Given the description of an element on the screen output the (x, y) to click on. 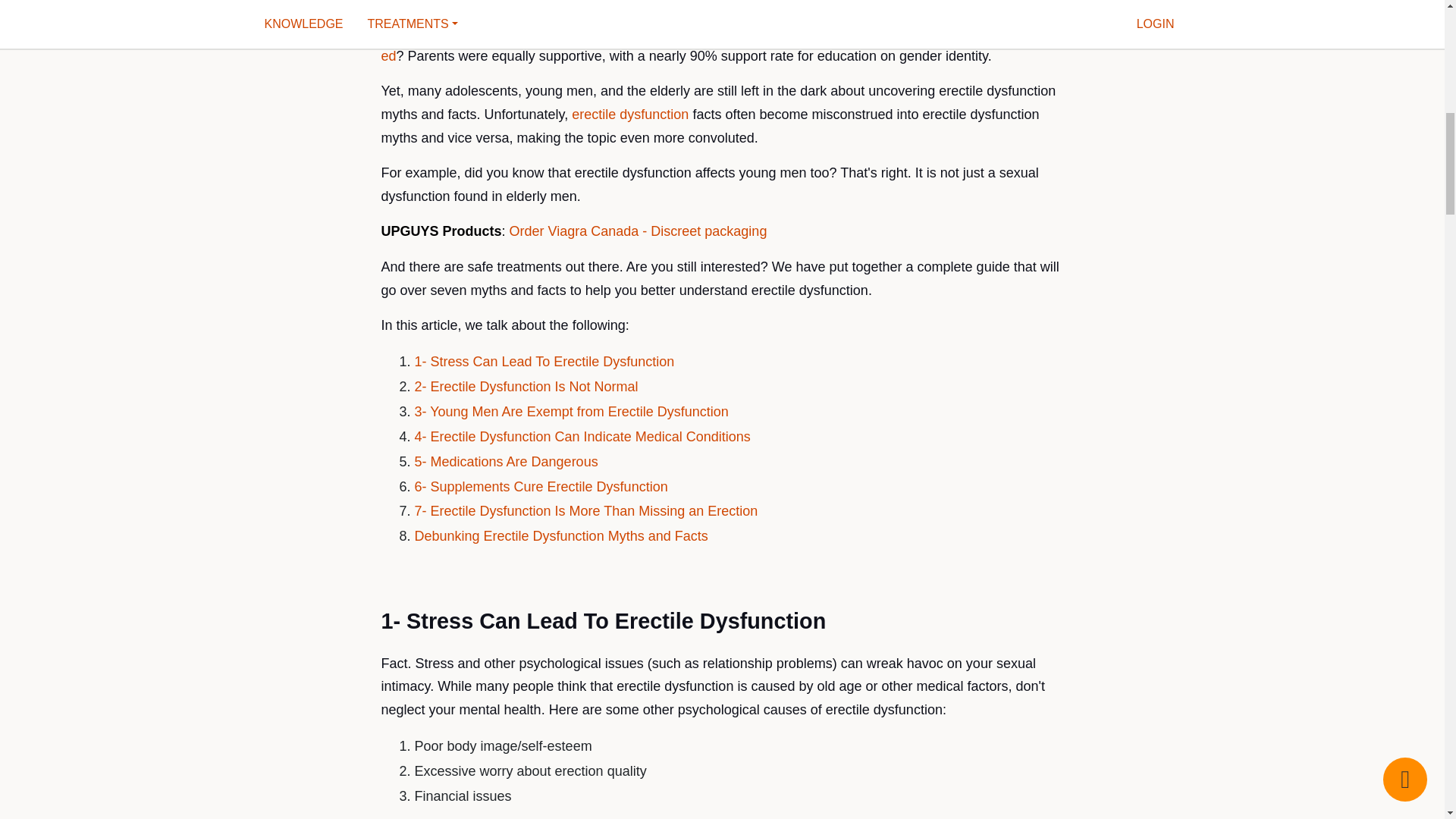
learning about sex-ed (711, 44)
6- Supplements Cure Erectile Dysfunction (541, 486)
erectile dysfunction (630, 114)
3- Young Men Are Exempt from Erectile Dysfunction (571, 411)
4- Erectile Dysfunction Can Indicate Medical Conditions (582, 436)
Order Viagra Canada - Discreet packaging (638, 231)
2- Erectile Dysfunction Is Not Normal (526, 386)
Debunking Erectile Dysfunction Myths and Facts (560, 535)
5- Medications Are Dangerous (506, 461)
1- Stress Can Lead To Erectile Dysfunction (544, 361)
